Given the description of an element on the screen output the (x, y) to click on. 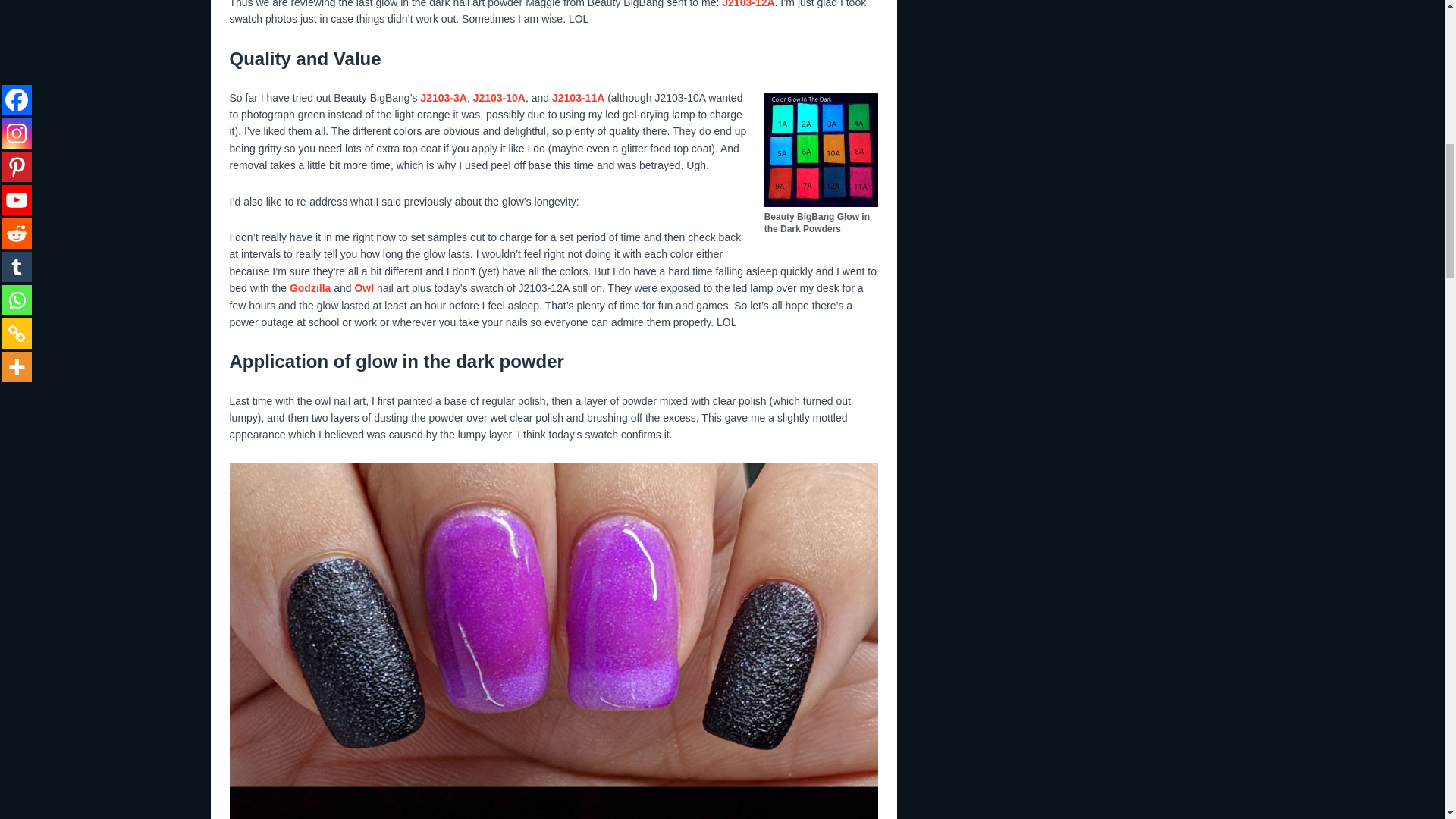
J2103-3A (443, 97)
Godzilla (309, 287)
Owl (363, 287)
J2103-12A (748, 4)
J2103-11A (577, 97)
J2103-10A (499, 97)
